Given the description of an element on the screen output the (x, y) to click on. 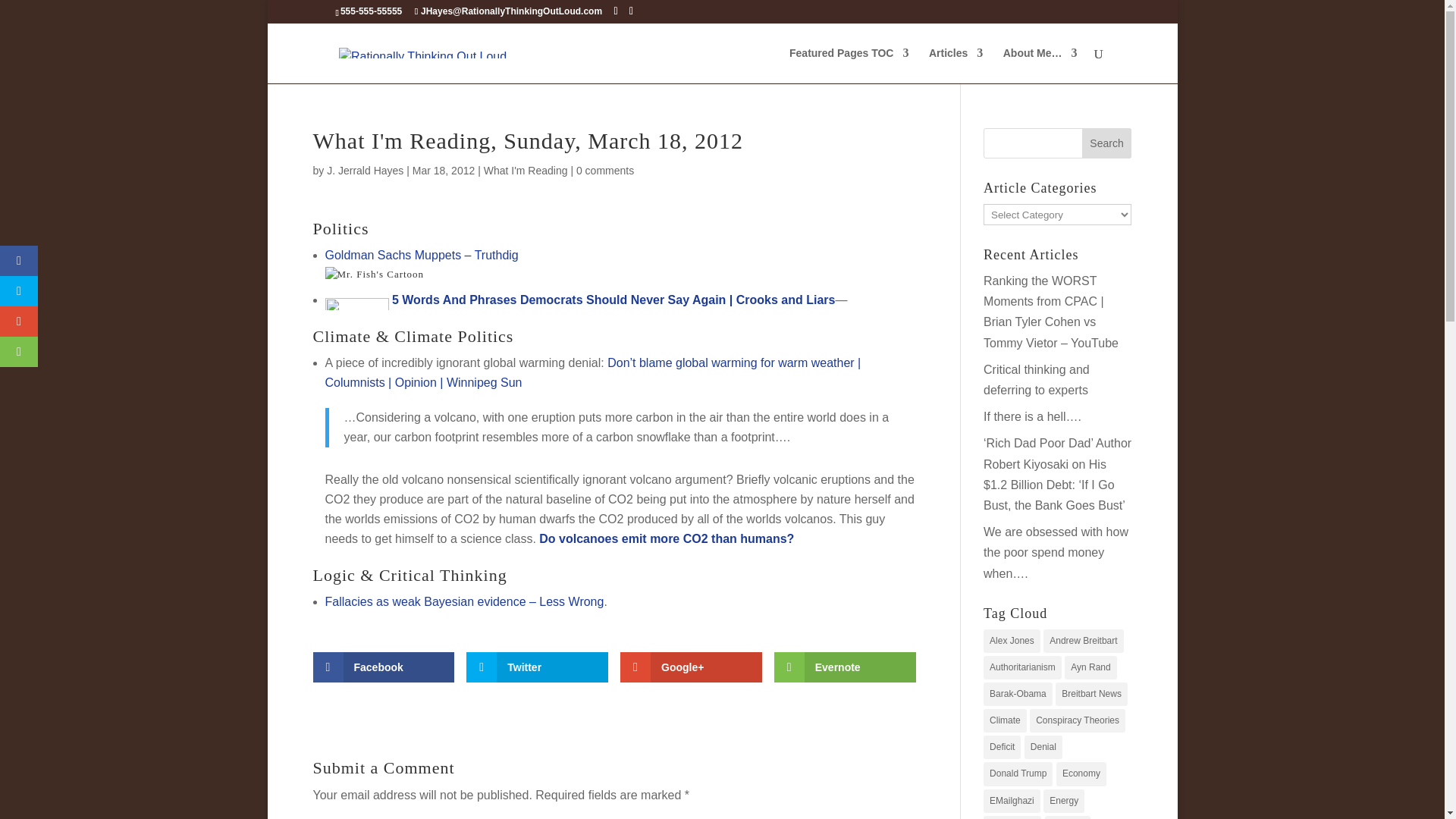
Posts by J. Jerrald Hayes (364, 170)
Articles (955, 65)
Featured Pages TOC (848, 65)
stars-5 (356, 304)
Search (1106, 142)
